Given the description of an element on the screen output the (x, y) to click on. 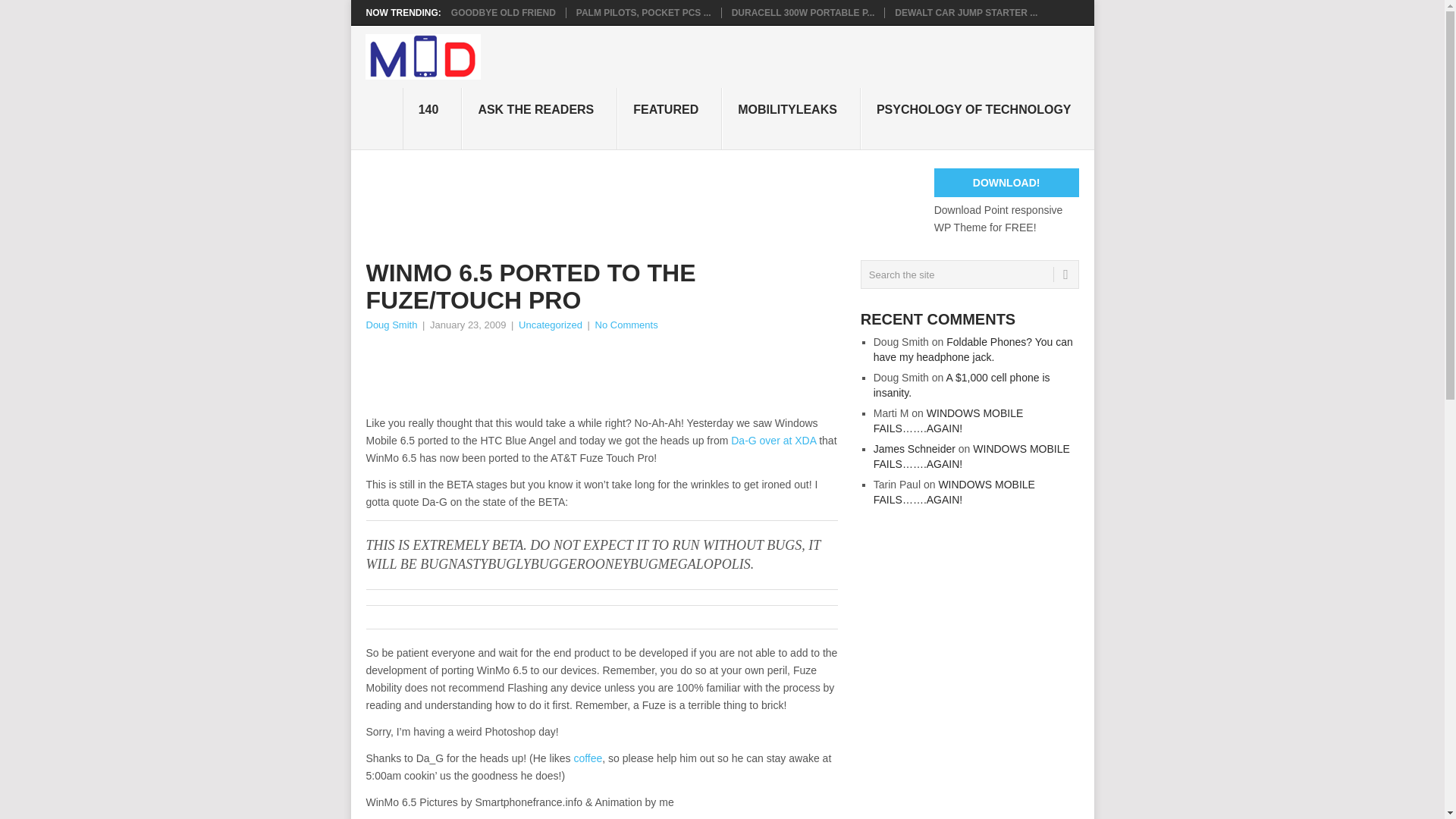
PSYCHOLOGY OF TECHNOLOGY (977, 118)
FEATURED (669, 118)
DeWalt Car Jump Starter Review (965, 12)
ASK THE READERS (539, 118)
Search the site (969, 274)
Palm Pilots, Pocket PCs and Boogie Boards (643, 12)
coffee (587, 758)
Goodbye Old Friend (503, 12)
Posts by Doug Smith (390, 324)
GOODBYE OLD FRIEND (503, 12)
